Given the description of an element on the screen output the (x, y) to click on. 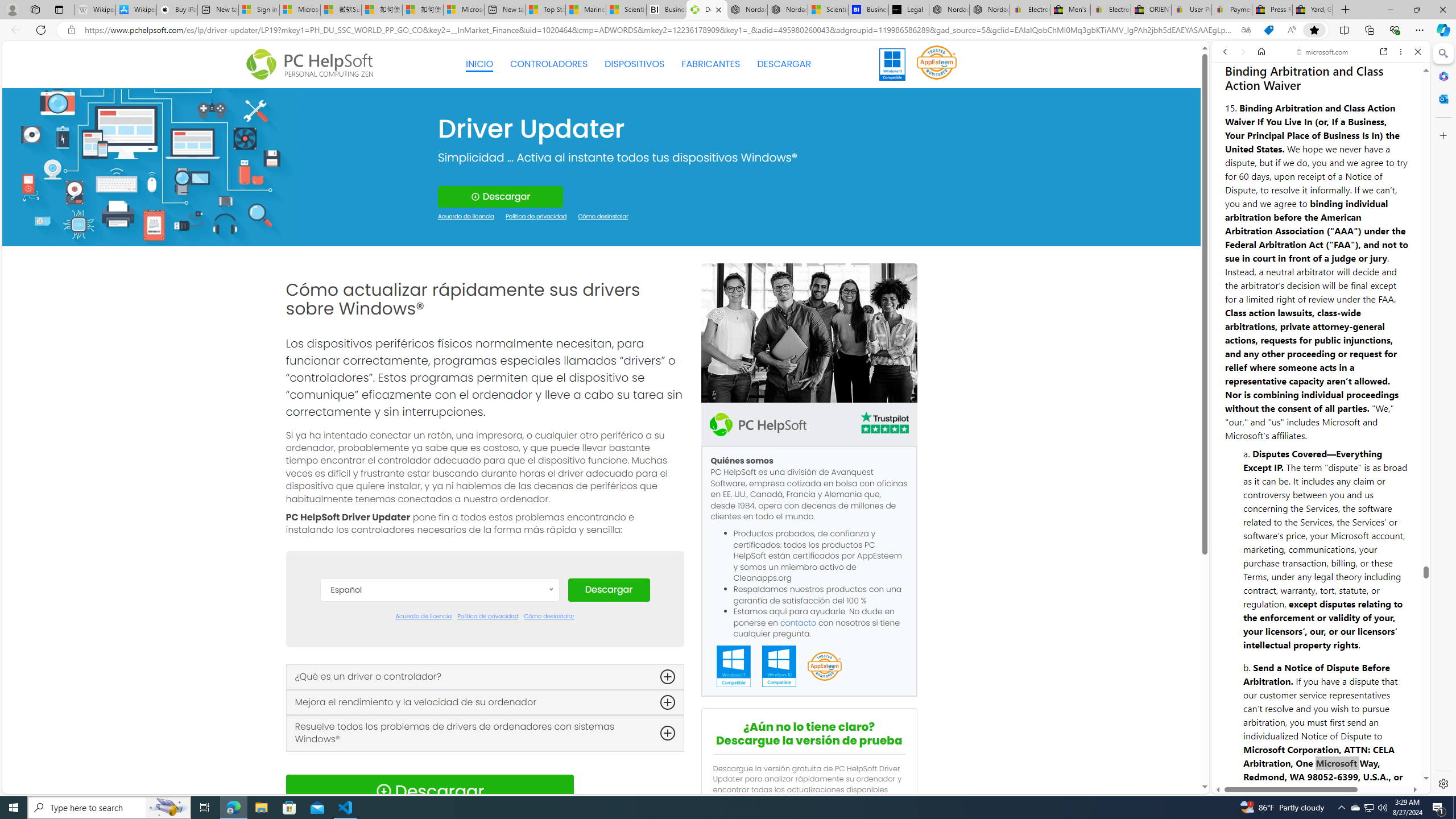
INICIO (479, 64)
CONTROLADORES (548, 64)
INICIO (479, 64)
Windows 10 Compatible (778, 666)
